Given the description of an element on the screen output the (x, y) to click on. 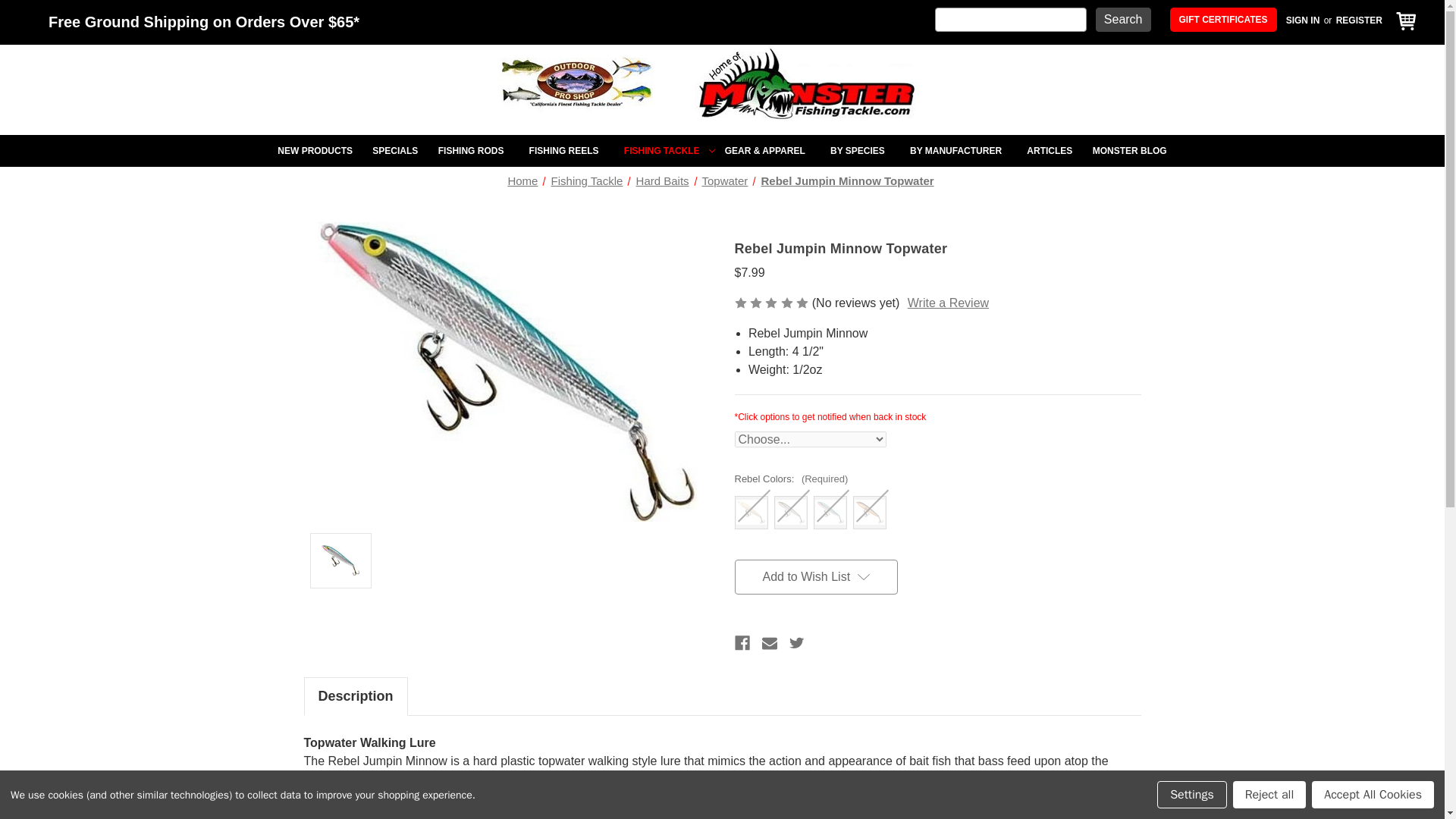
Rebel Jumpin Minnow Topwater (506, 371)
FISHING REELS (565, 151)
00 - Bone (750, 512)
Search (1123, 19)
03 - Silver Blue (828, 512)
GIFT CERTIFICATES (1223, 19)
Search (1123, 19)
NEW PRODUCTS (314, 151)
